Given the description of an element on the screen output the (x, y) to click on. 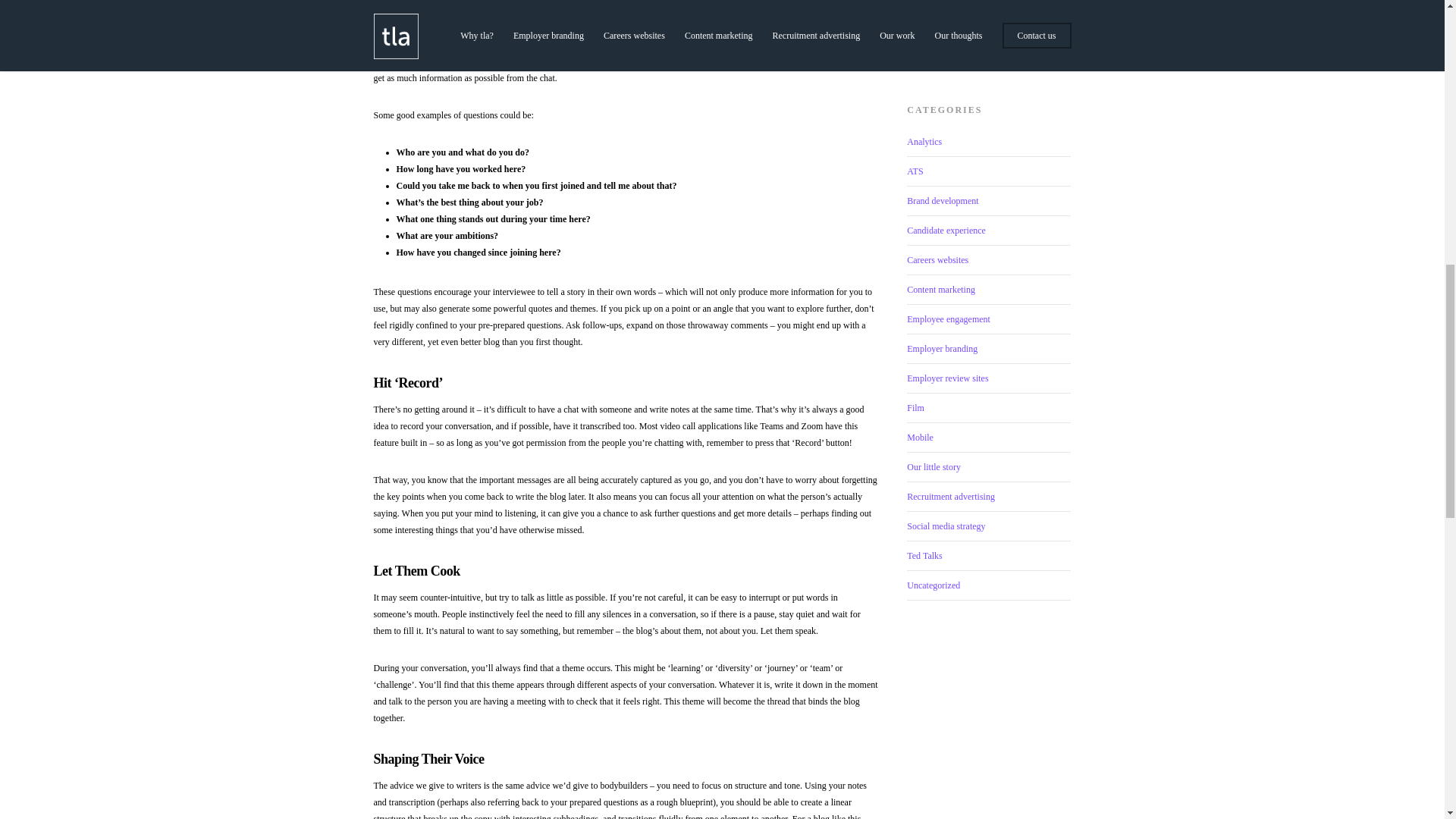
Content marketing (988, 289)
Analytics (988, 145)
ATS (988, 171)
Film (988, 408)
Careers websites (988, 260)
Employer review sites (988, 378)
Brand development (988, 201)
Employee engagement (988, 319)
Candidate experience (988, 230)
Mobile (988, 437)
